Given the description of an element on the screen output the (x, y) to click on. 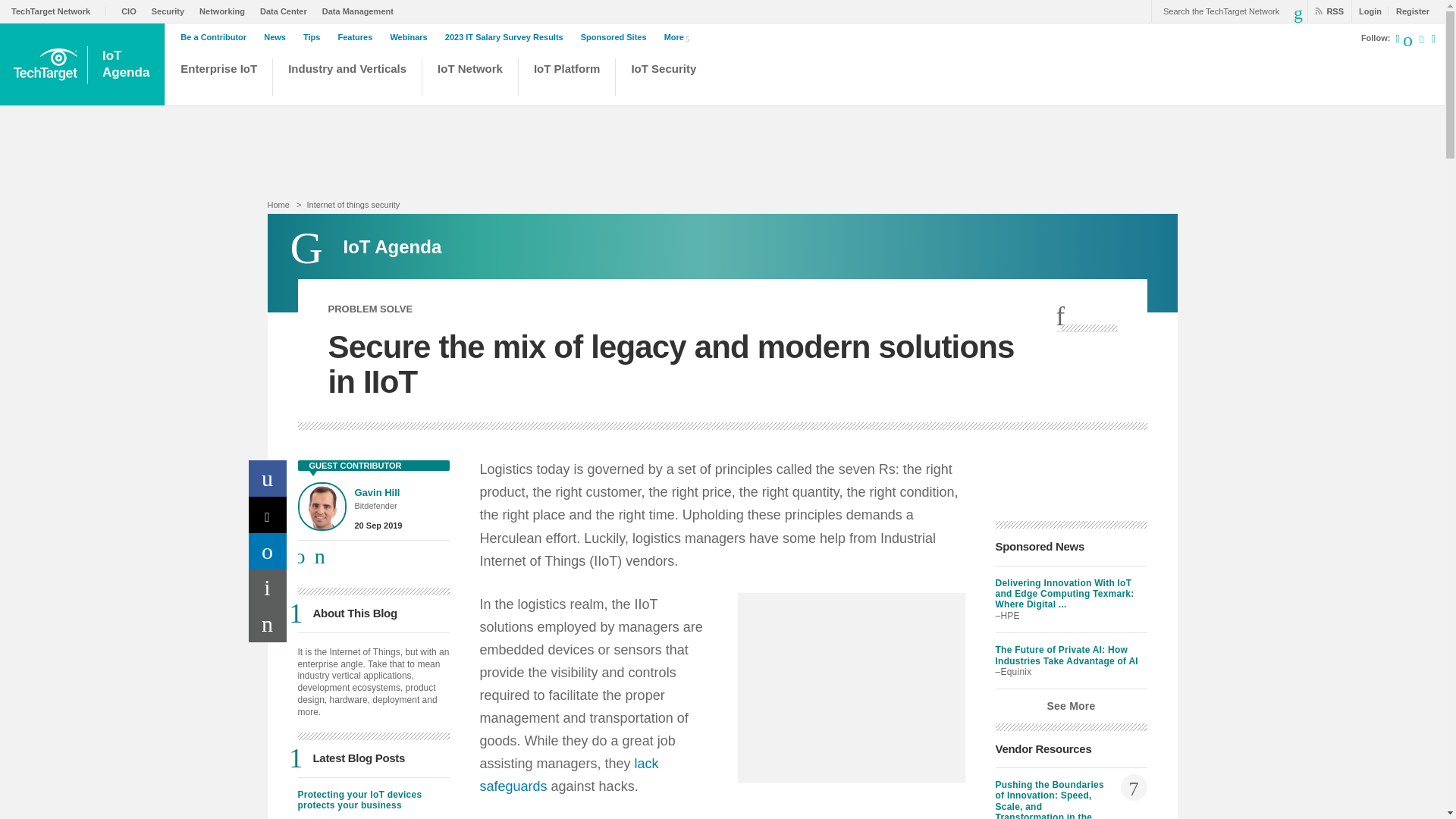
Login (1366, 10)
Industry and Verticals (347, 79)
News (278, 36)
Internet of things security (351, 204)
Features (358, 36)
Share this (1085, 316)
2023 IT Salary Survey Results (507, 36)
Share on X (267, 514)
Tips (314, 36)
Data Management (361, 10)
